Given the description of an element on the screen output the (x, y) to click on. 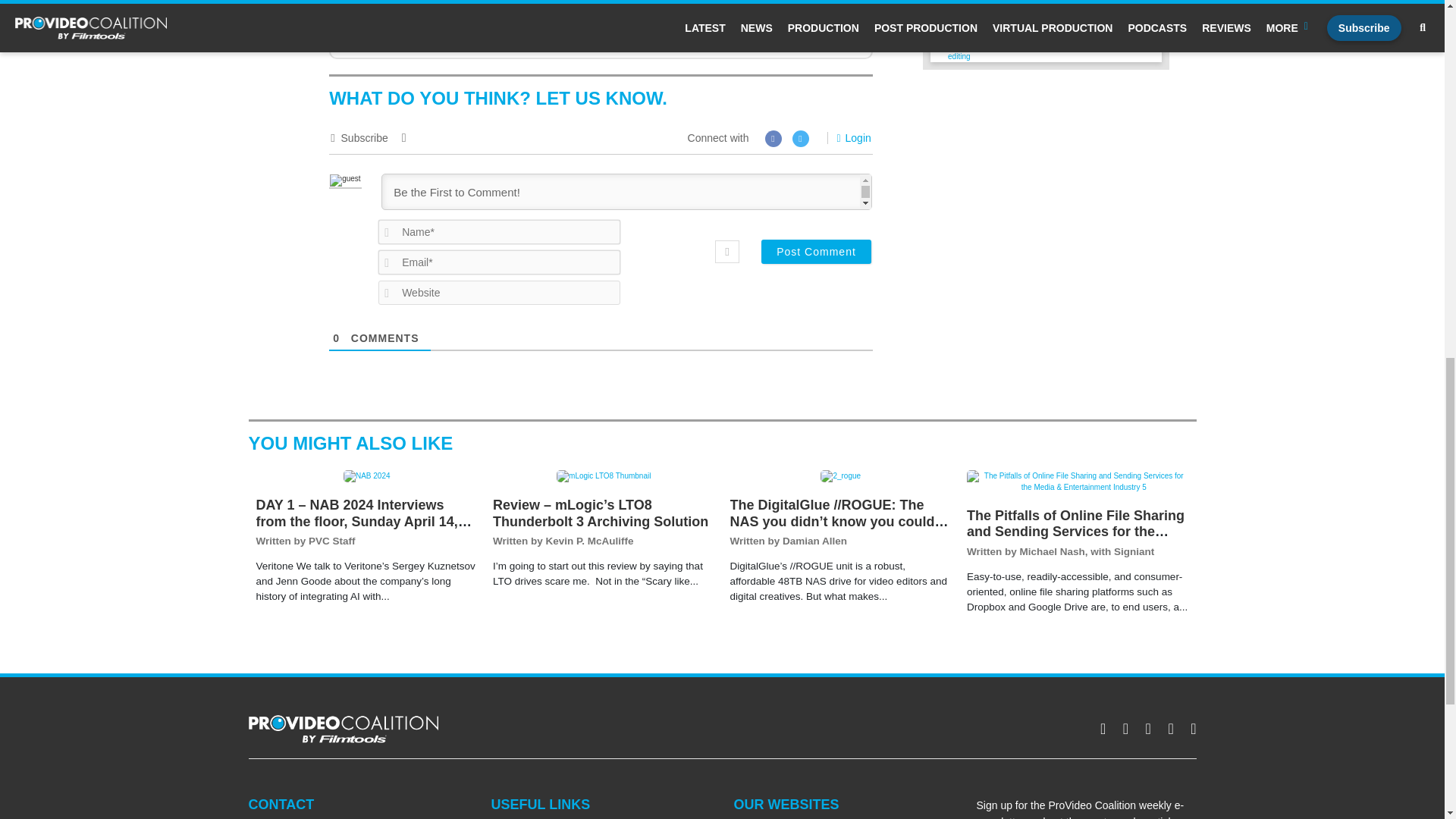
Shop Now (510, 29)
Post Comment (815, 251)
Post Comment (815, 251)
Login (853, 137)
